Given the description of an element on the screen output the (x, y) to click on. 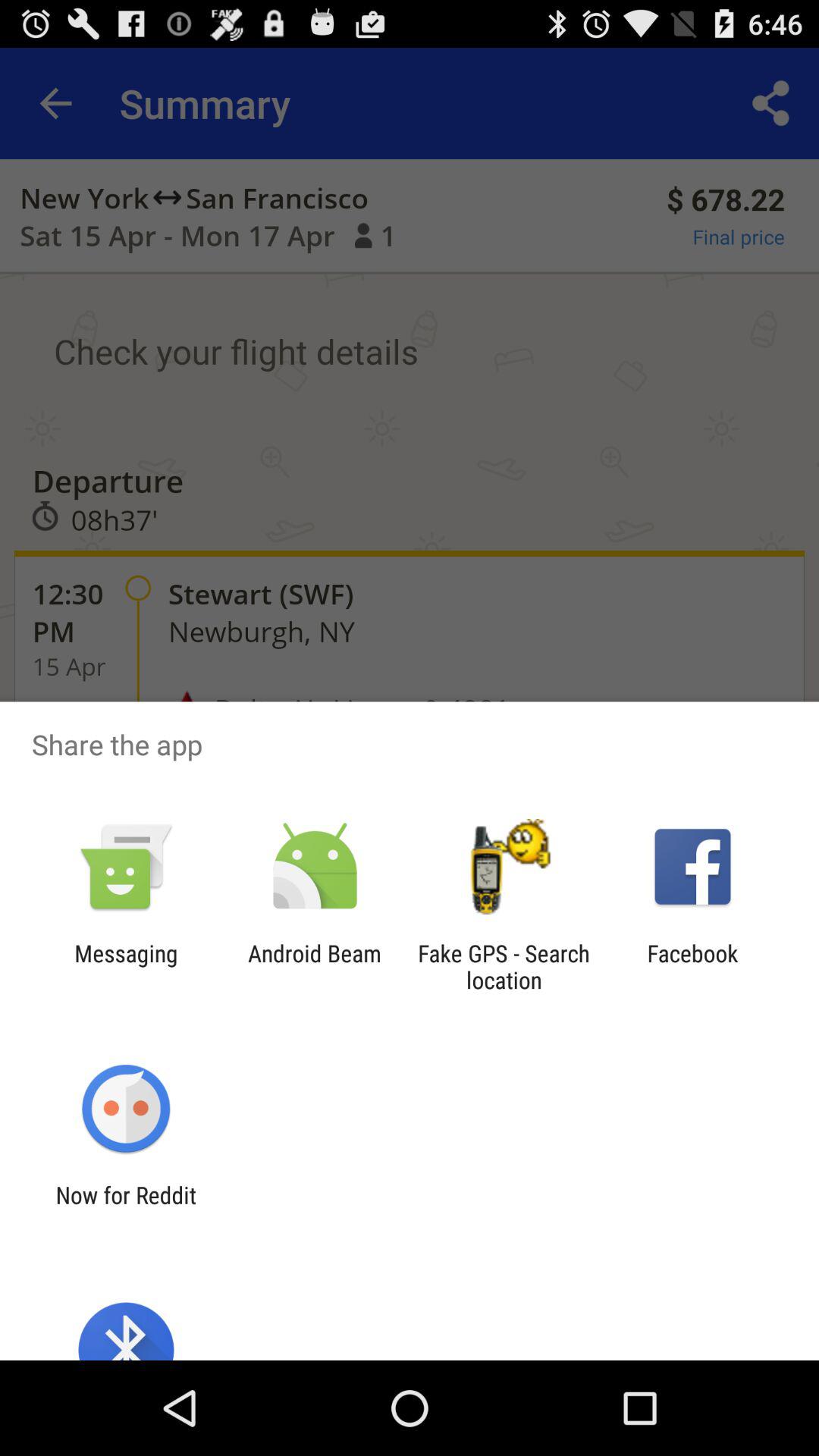
launch icon to the right of fake gps search app (692, 966)
